Given the description of an element on the screen output the (x, y) to click on. 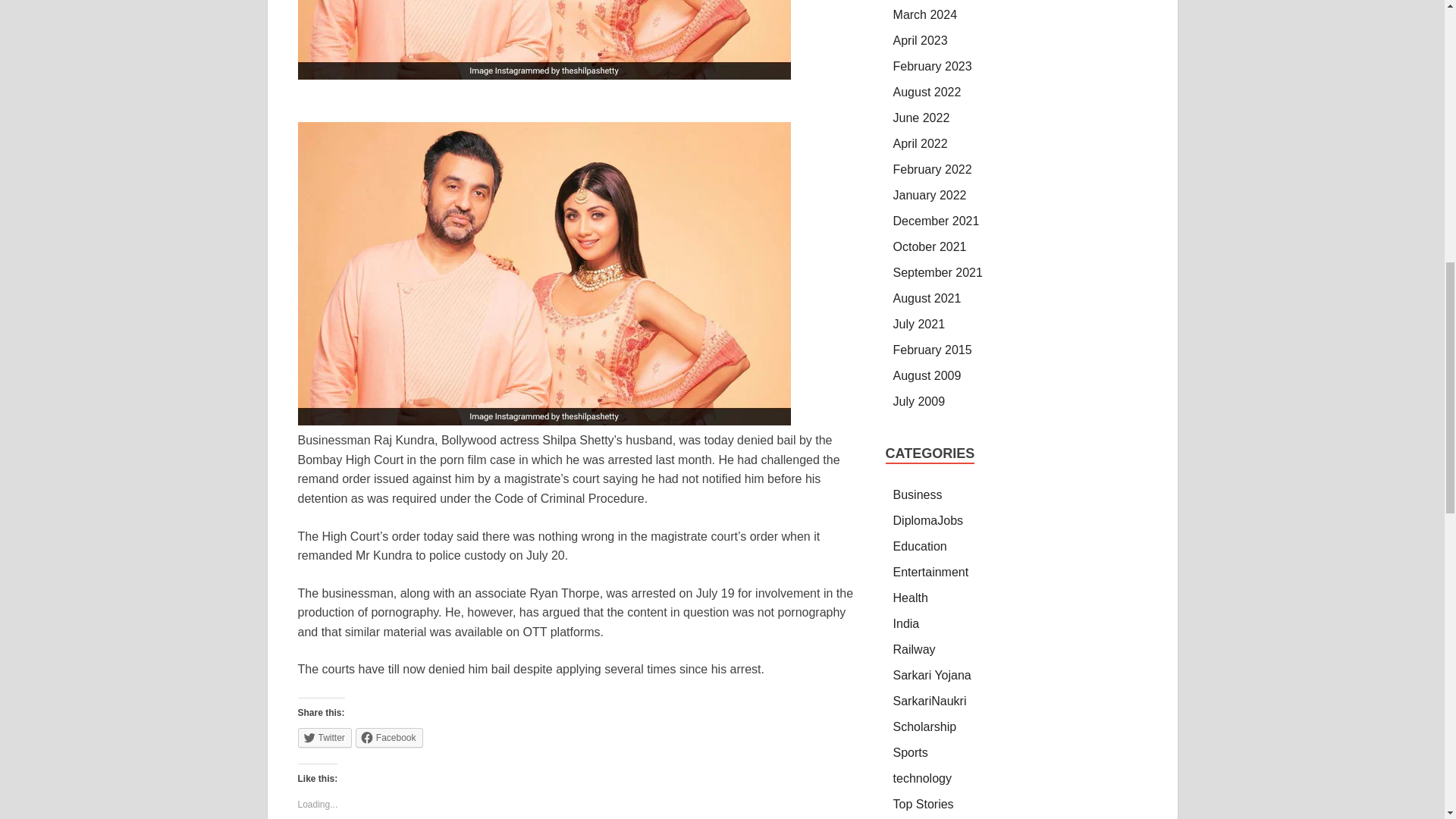
April 2023 (920, 40)
March 2024 (925, 14)
Twitter (323, 737)
Click to share on Facebook (389, 737)
Click to share on Twitter (323, 737)
February 2023 (932, 65)
Facebook (389, 737)
